Given the description of an element on the screen output the (x, y) to click on. 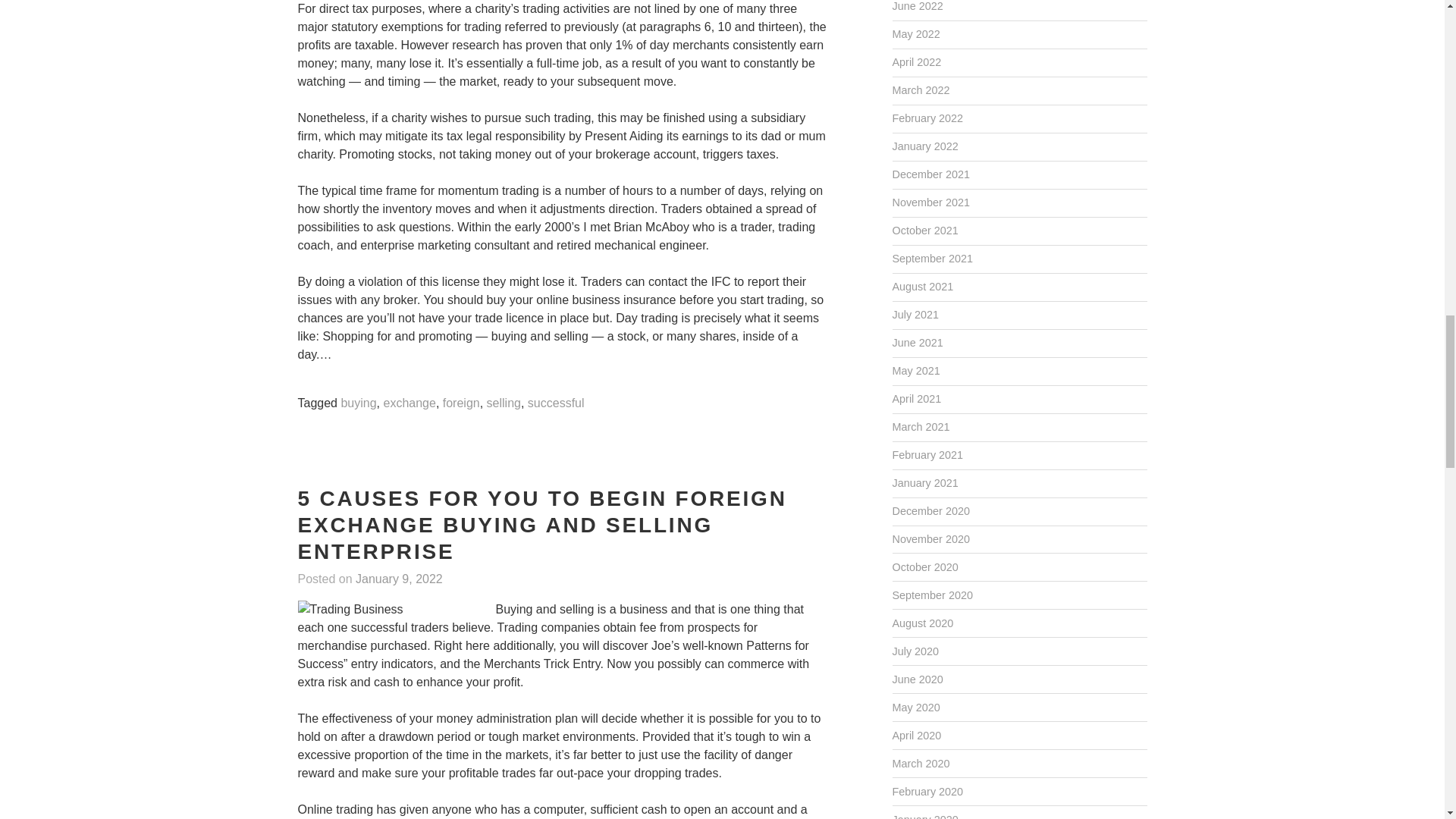
foreign (461, 403)
exchange (408, 403)
January 9, 2022 (398, 579)
selling (503, 403)
successful (556, 403)
buying (357, 403)
